Given the description of an element on the screen output the (x, y) to click on. 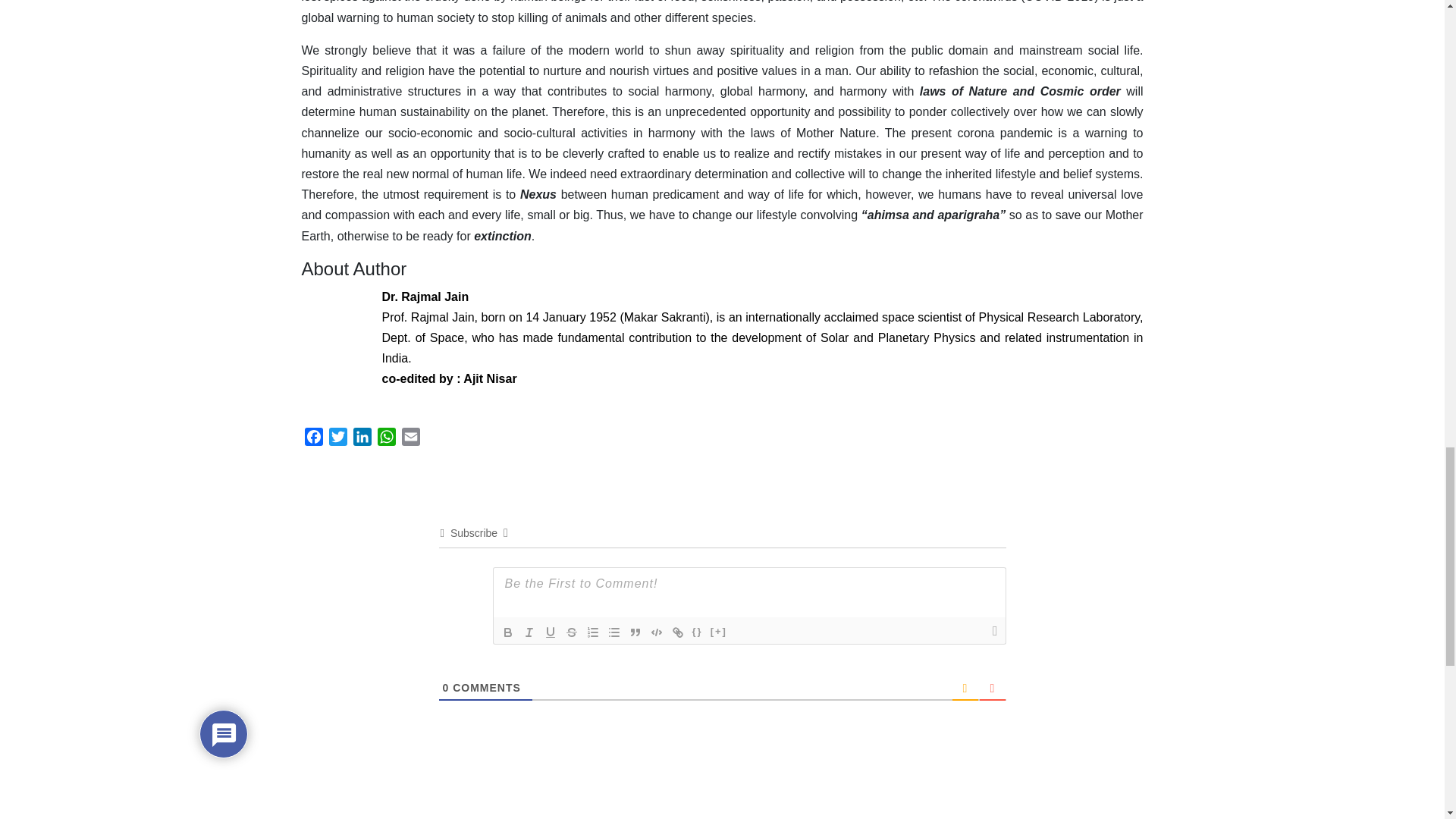
Italic (529, 632)
Email (410, 439)
Spoiler (718, 632)
WhatsApp (386, 439)
ordered (593, 632)
Dr. Rajmal Jain (424, 295)
Blockquote (635, 632)
Underline (550, 632)
Code Block (656, 632)
Source Code (697, 632)
bullet (614, 632)
Ordered List (593, 632)
LinkedIn (362, 439)
Strike (571, 632)
WhatsApp (386, 439)
